Given the description of an element on the screen output the (x, y) to click on. 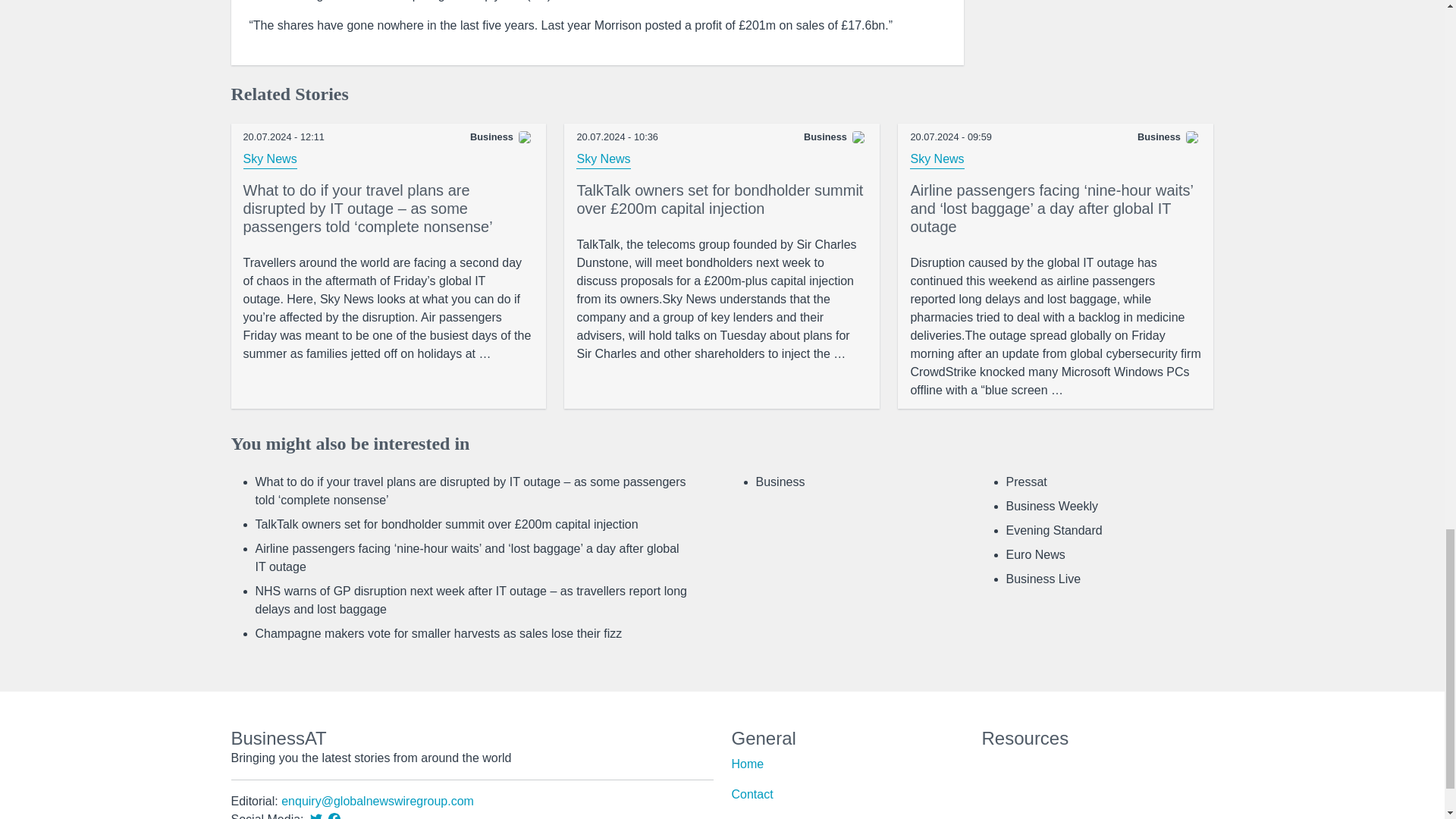
Sky News (270, 158)
Sky News (603, 158)
Business Weekly (1051, 505)
Pressat (1026, 481)
Sky News (936, 158)
Business (780, 481)
Evening Standard (1054, 530)
Euro News (1035, 554)
Business Live (1043, 578)
